Given the description of an element on the screen output the (x, y) to click on. 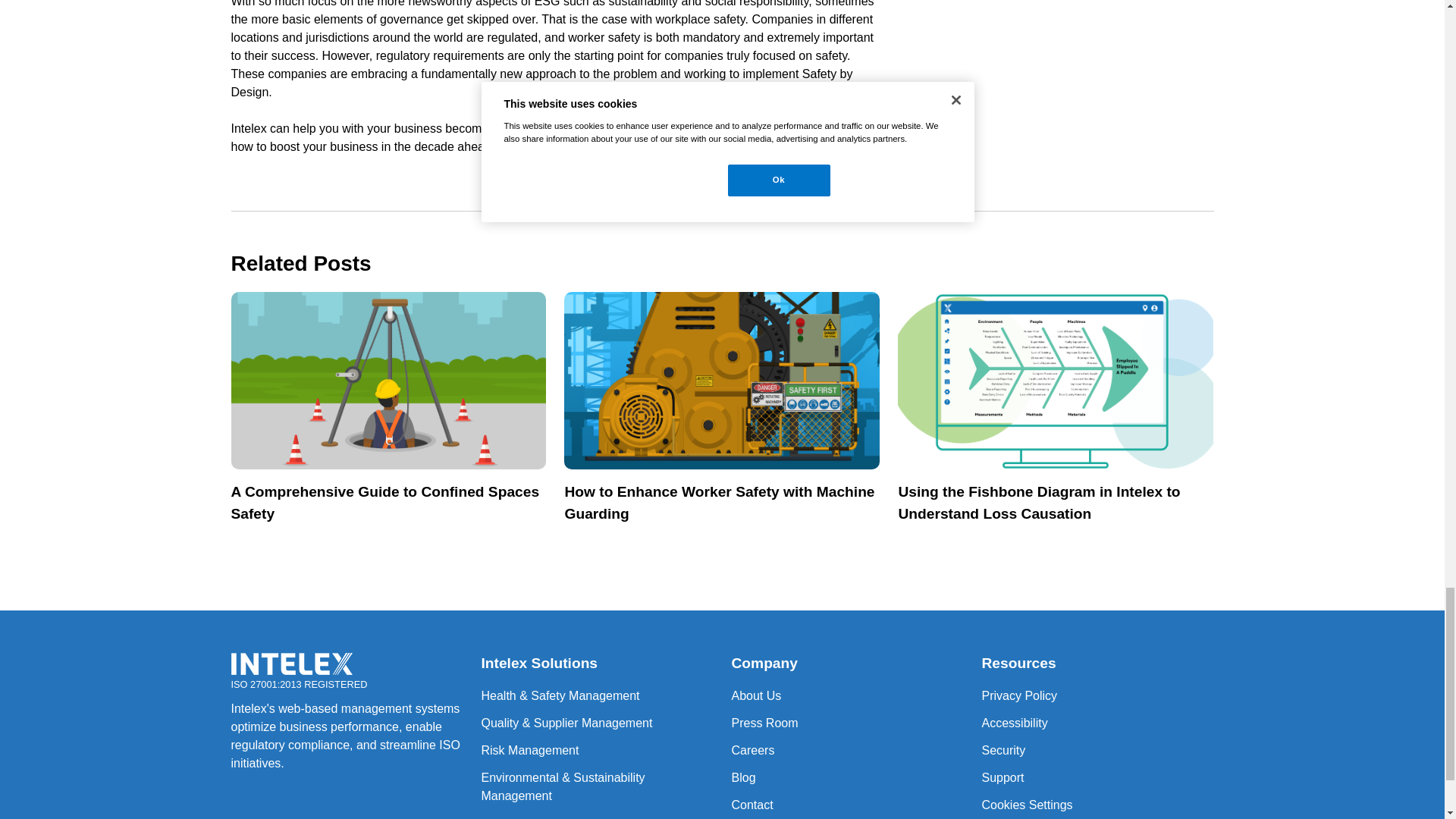
Safety by Design Demonstrates Good Governance (291, 663)
